Given the description of an element on the screen output the (x, y) to click on. 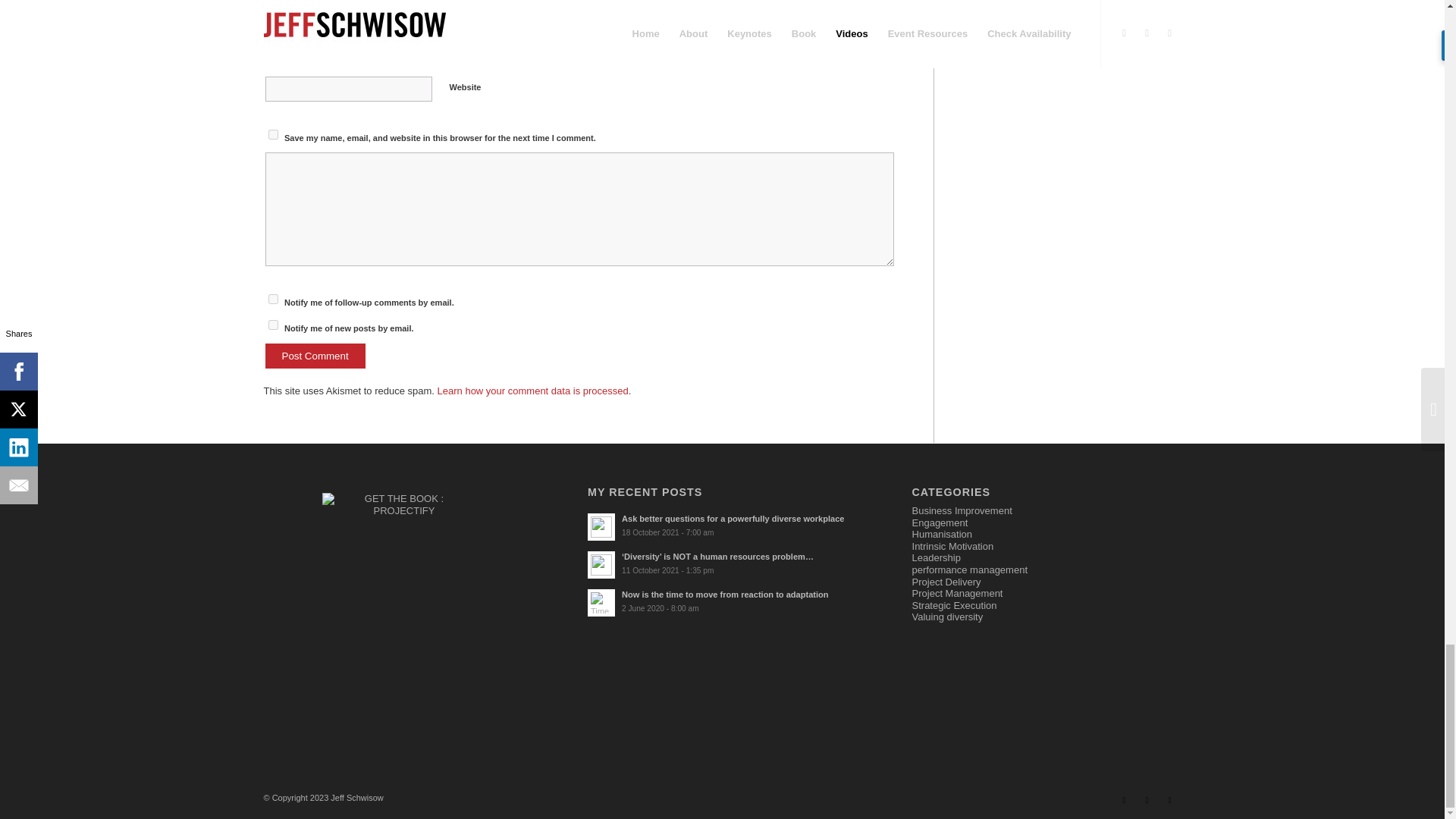
subscribe (272, 298)
Learn how your comment data is processed (533, 390)
subscribe (272, 325)
yes (272, 134)
Post Comment (314, 355)
Post Comment (314, 355)
